Given the description of an element on the screen output the (x, y) to click on. 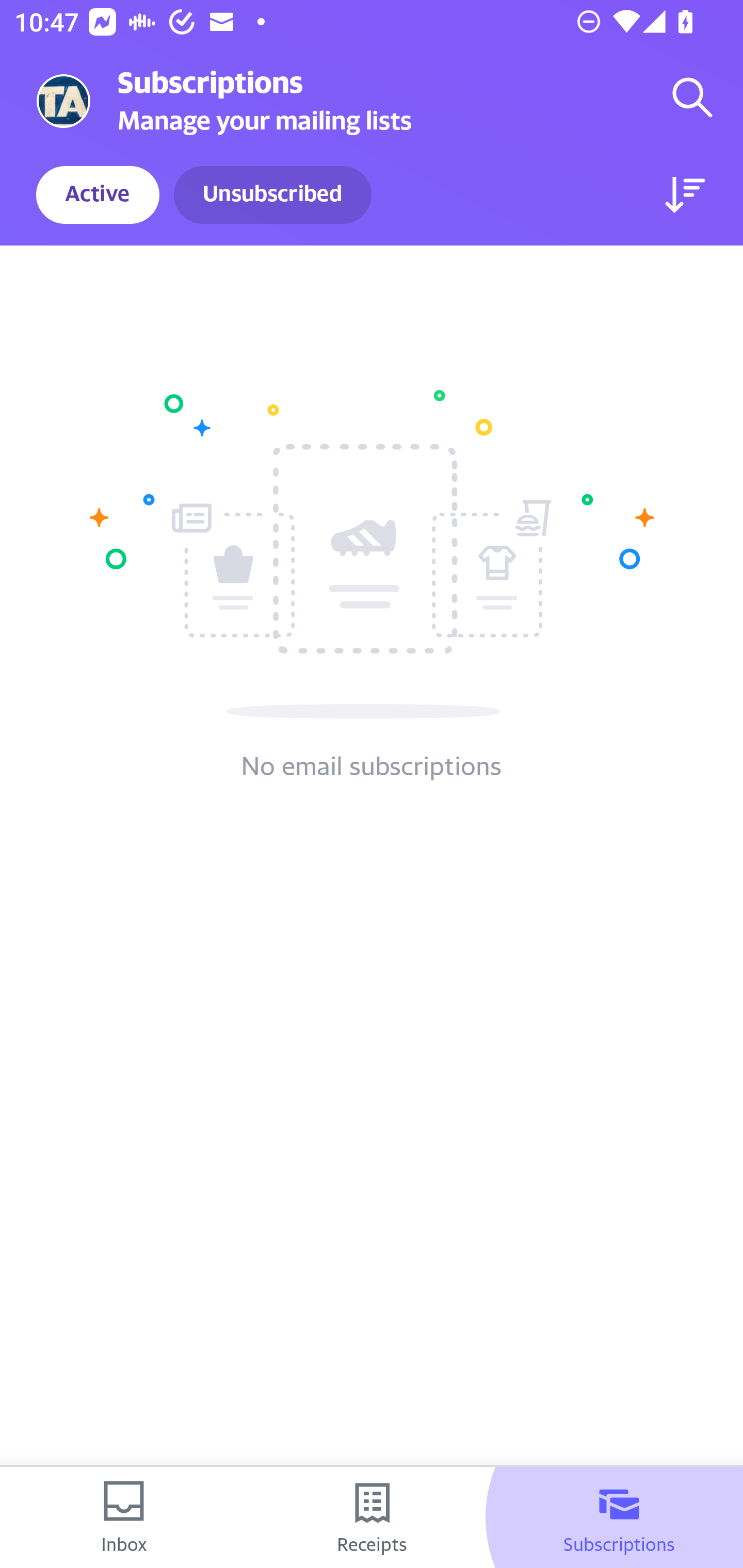
Search mail (692, 97)
Unsubscribed (272, 195)
Sort (684, 195)
Inbox (123, 1517)
Receipts (371, 1517)
Subscriptions (619, 1517)
